Given the description of an element on the screen output the (x, y) to click on. 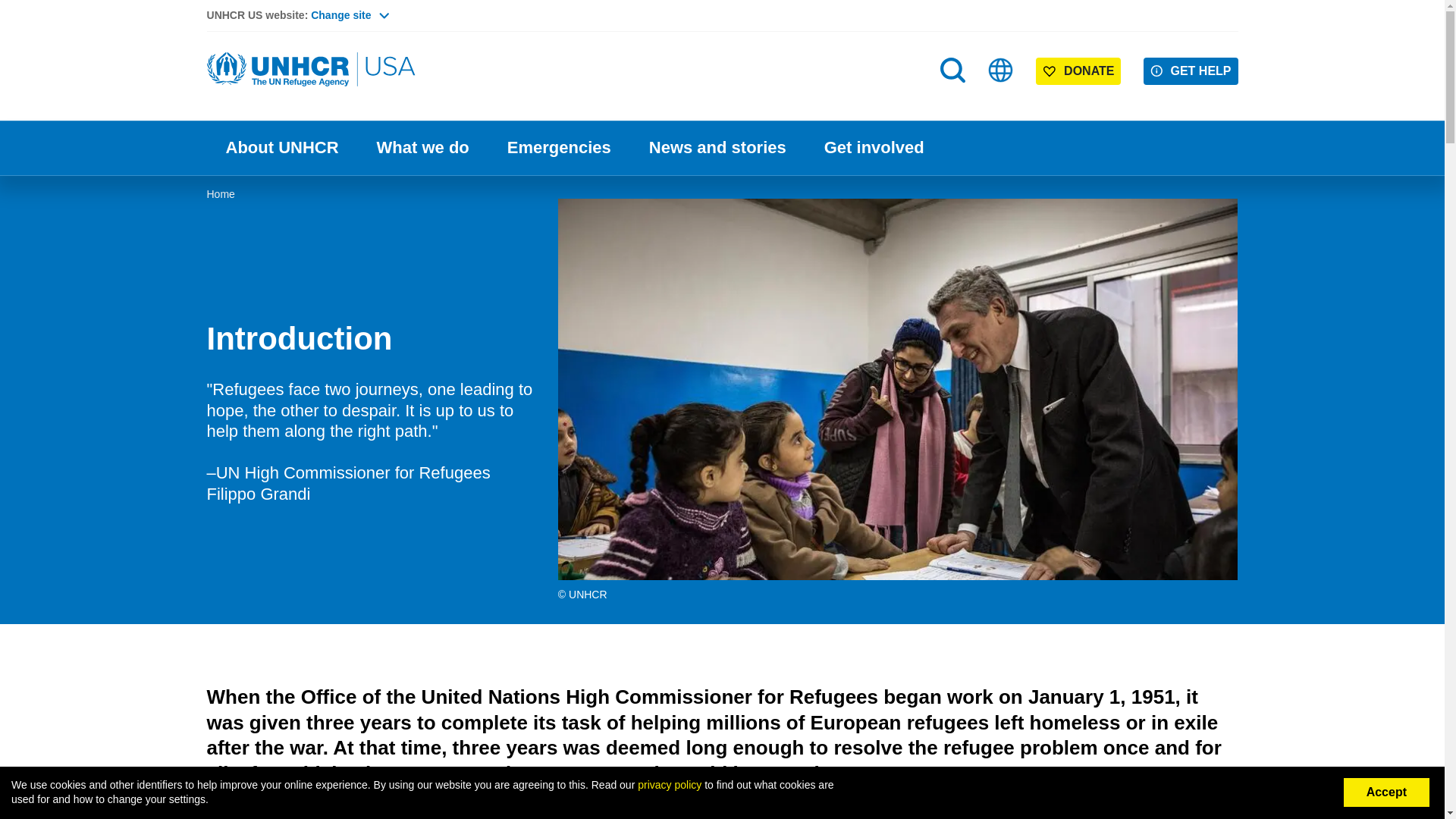
Sites (1000, 69)
Home (312, 69)
GET HELP (1189, 71)
DONATE (1078, 71)
Search (952, 69)
Change site (349, 15)
About UNHCR (281, 148)
Search (954, 99)
Skip to main content (721, 1)
